Given the description of an element on the screen output the (x, y) to click on. 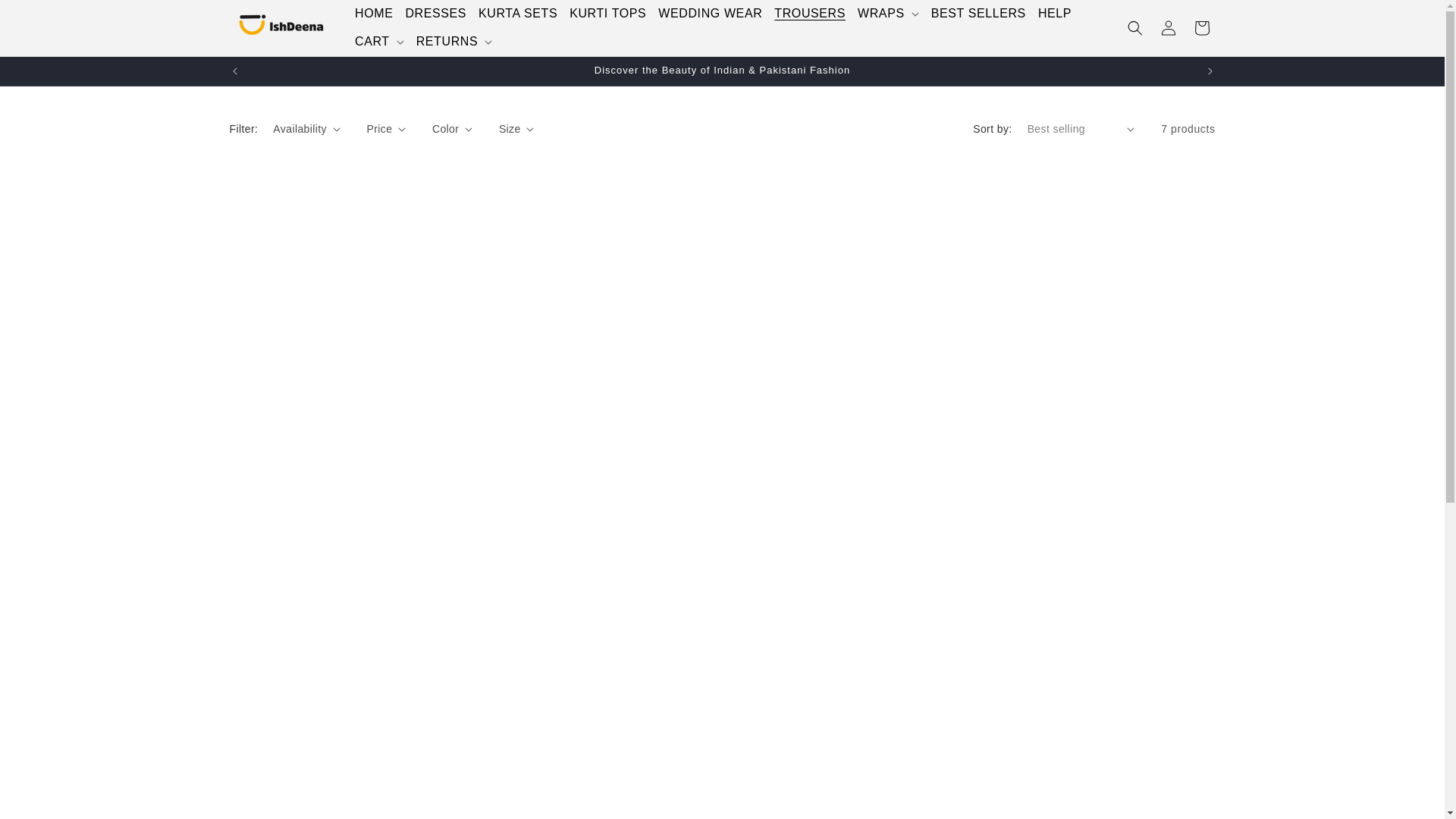
KURTA SETS (517, 13)
Skip to content (45, 17)
WEDDING WEAR (710, 13)
HOME (373, 13)
DRESSES (434, 13)
TROUSERS (809, 13)
KURTI TOPS (607, 13)
